Given the description of an element on the screen output the (x, y) to click on. 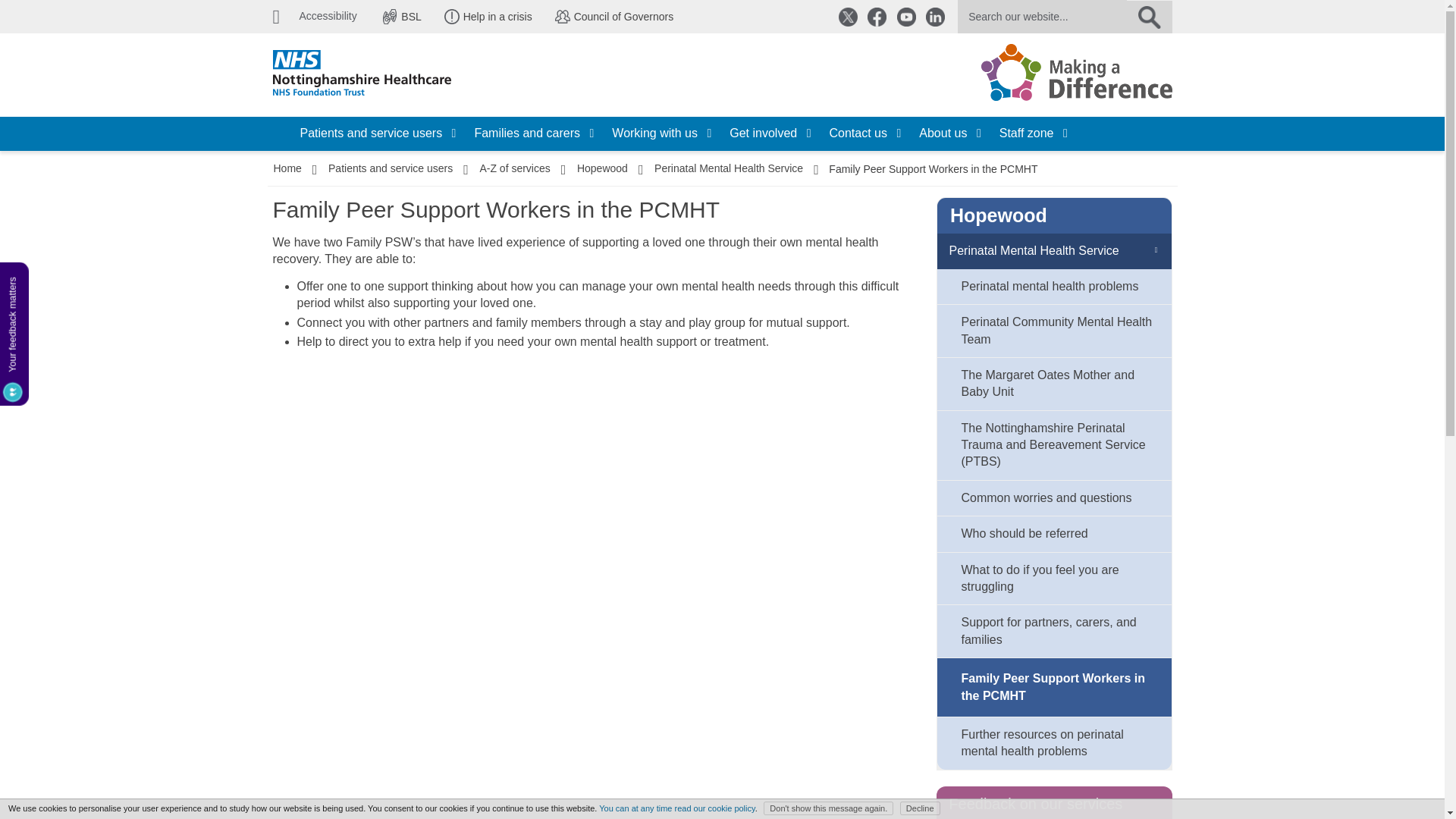
Perinatal mental health problems (1054, 286)
British Sign Language (408, 16)
About us (950, 133)
The Margaret Oates Mother and Baby Unit (1054, 383)
A-Z of services (514, 168)
Working with us (661, 133)
Perinatal Mental Health Service (728, 168)
Hopewood (601, 168)
Staff zone (1033, 133)
Get involved (769, 133)
